Given the description of an element on the screen output the (x, y) to click on. 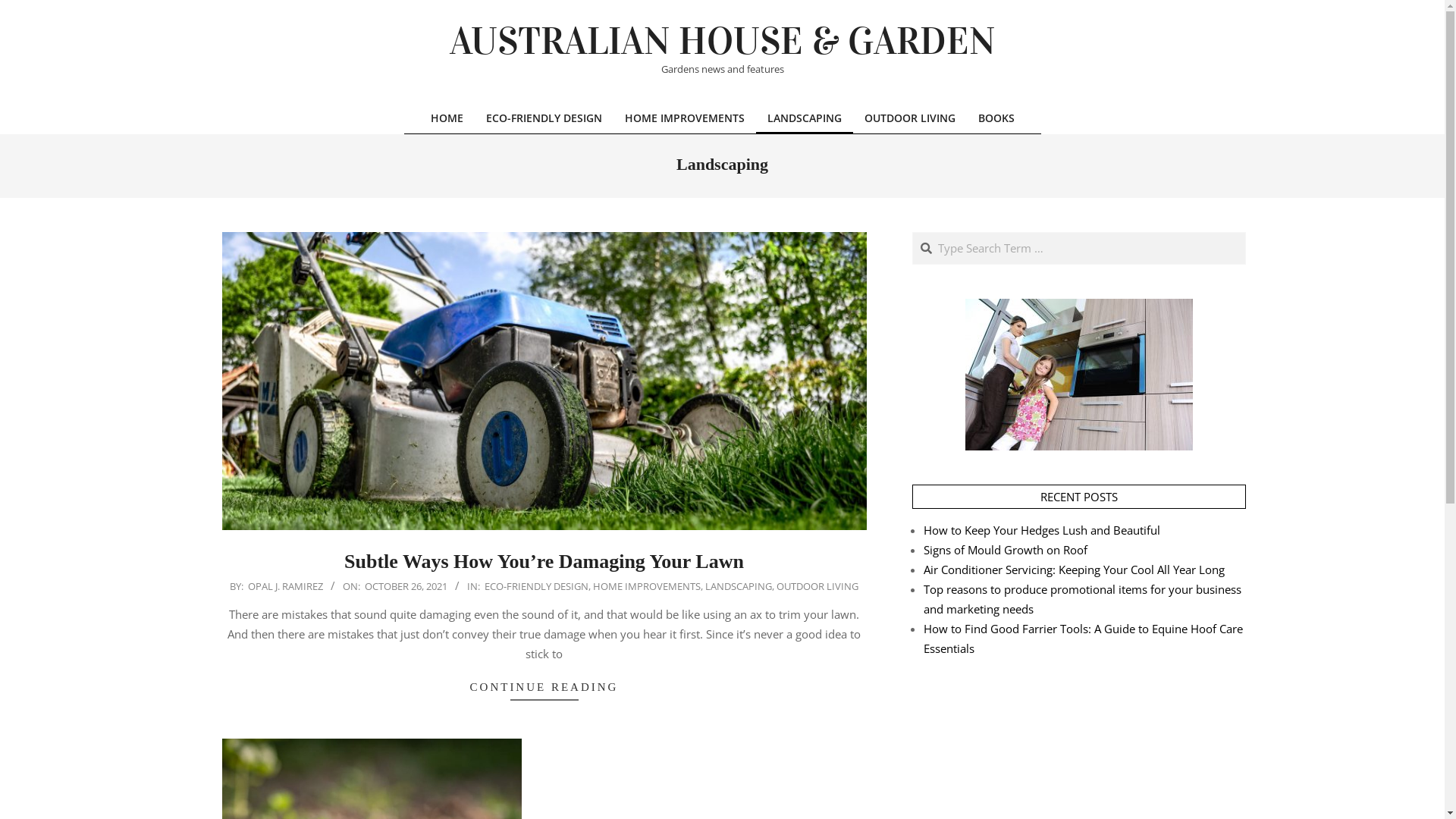
CONTINUE READING Element type: text (543, 686)
LANDSCAPING Element type: text (803, 117)
ECO-FRIENDLY DESIGN Element type: text (543, 117)
BOOKS Element type: text (995, 117)
AUSTRALIAN HOUSE & GARDEN Element type: text (721, 41)
HOME IMPROVEMENTS Element type: text (646, 586)
Signs of Mould Growth on Roof Element type: text (1005, 549)
OPAL J. RAMIREZ Element type: text (285, 586)
OUTDOOR LIVING Element type: text (909, 117)
How to Keep Your Hedges Lush and Beautiful Element type: text (1041, 529)
OUTDOOR LIVING Element type: text (817, 586)
ECO-FRIENDLY DESIGN Element type: text (536, 586)
HOME IMPROVEMENTS Element type: text (683, 117)
HOME Element type: text (445, 117)
Air Conditioner Servicing: Keeping Your Cool All Year Long Element type: text (1073, 569)
LANDSCAPING Element type: text (738, 586)
